Given the description of an element on the screen output the (x, y) to click on. 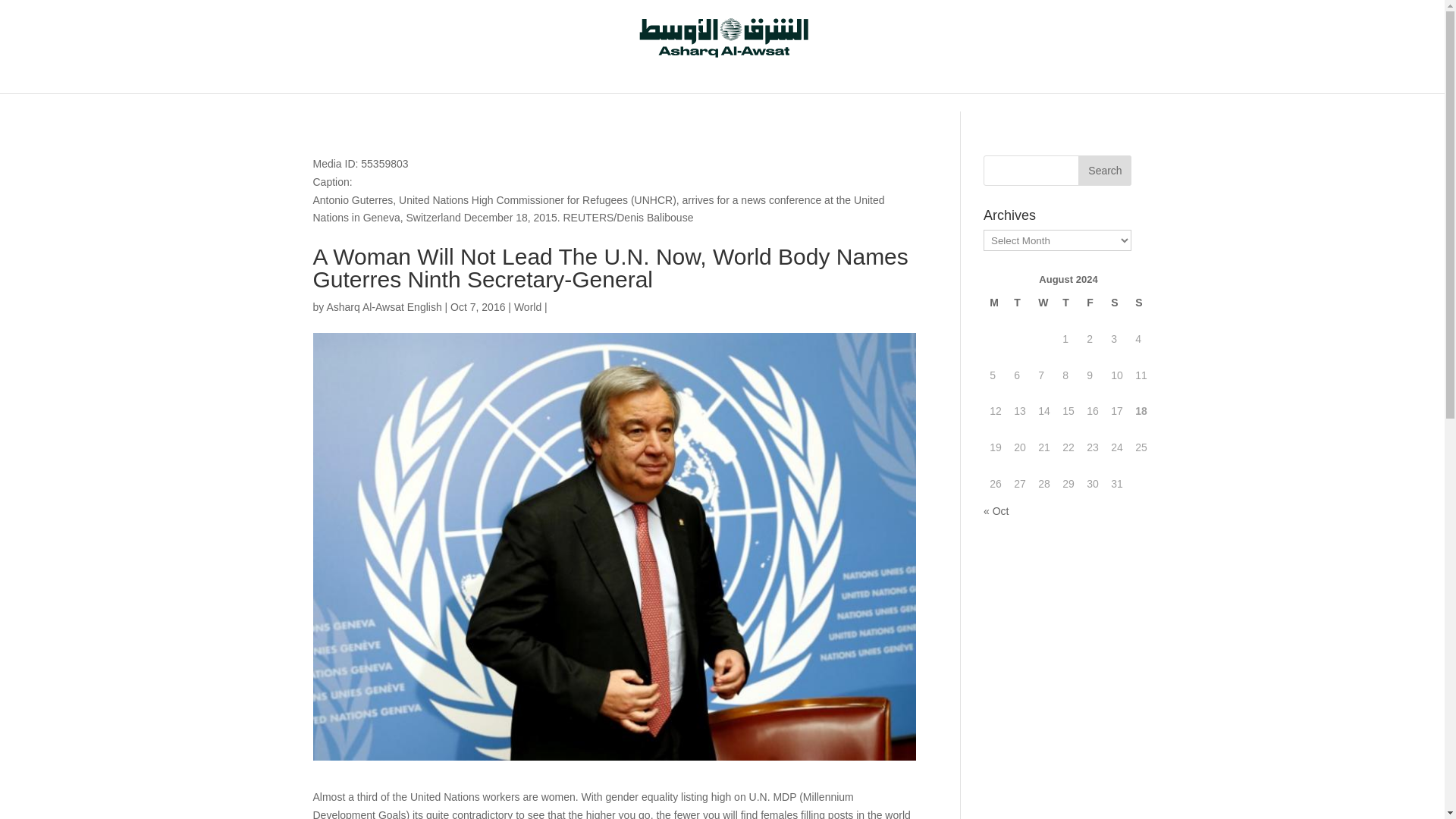
Search (1104, 170)
Posts by Asharq Al-Awsat English (383, 306)
Asharq Al-Awsat English (383, 306)
Search (1104, 170)
World (527, 306)
